Given the description of an element on the screen output the (x, y) to click on. 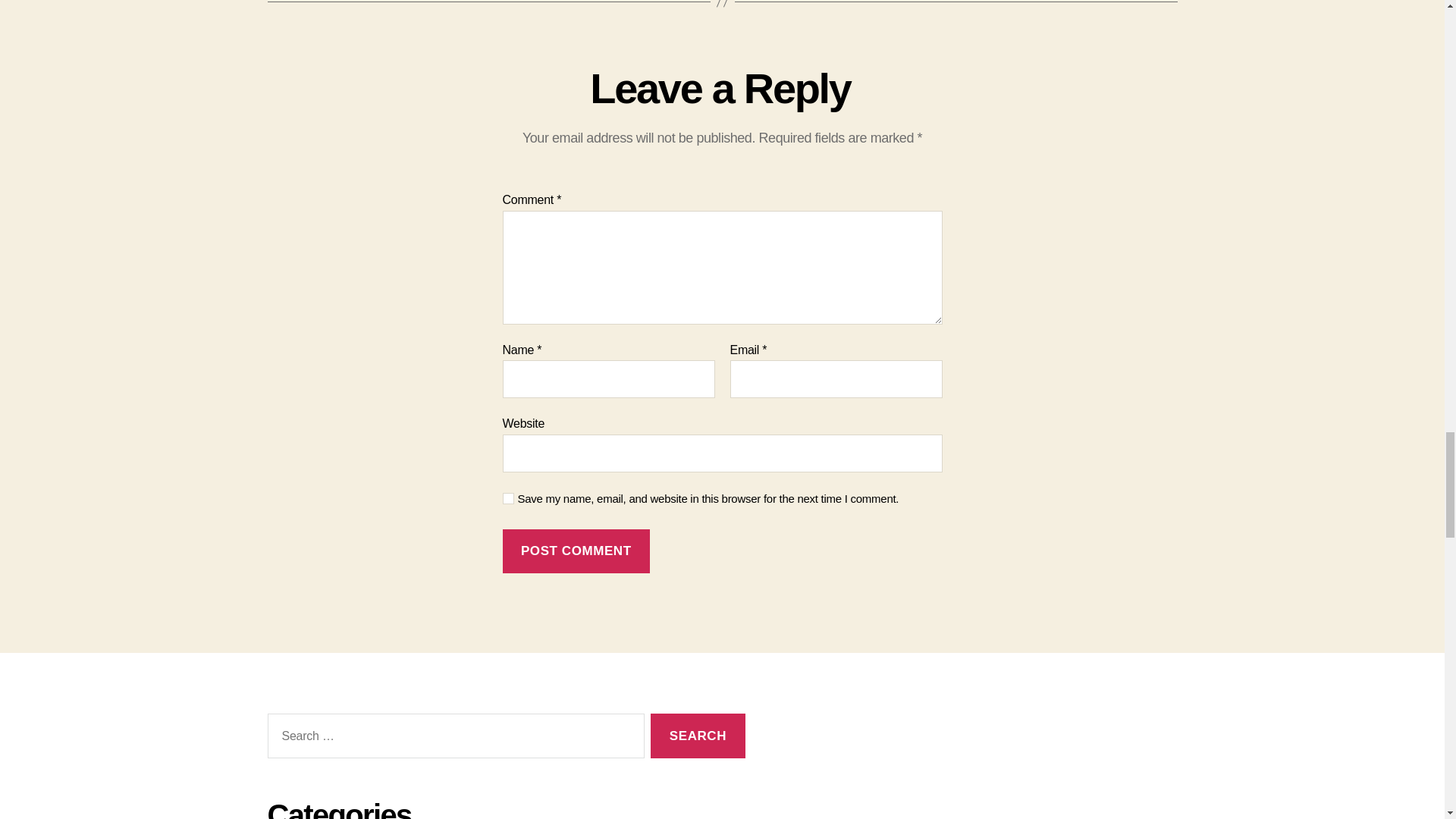
Post Comment (575, 551)
Search (697, 735)
yes (507, 498)
Search (697, 735)
Search (697, 735)
Post Comment (575, 551)
